Given the description of an element on the screen output the (x, y) to click on. 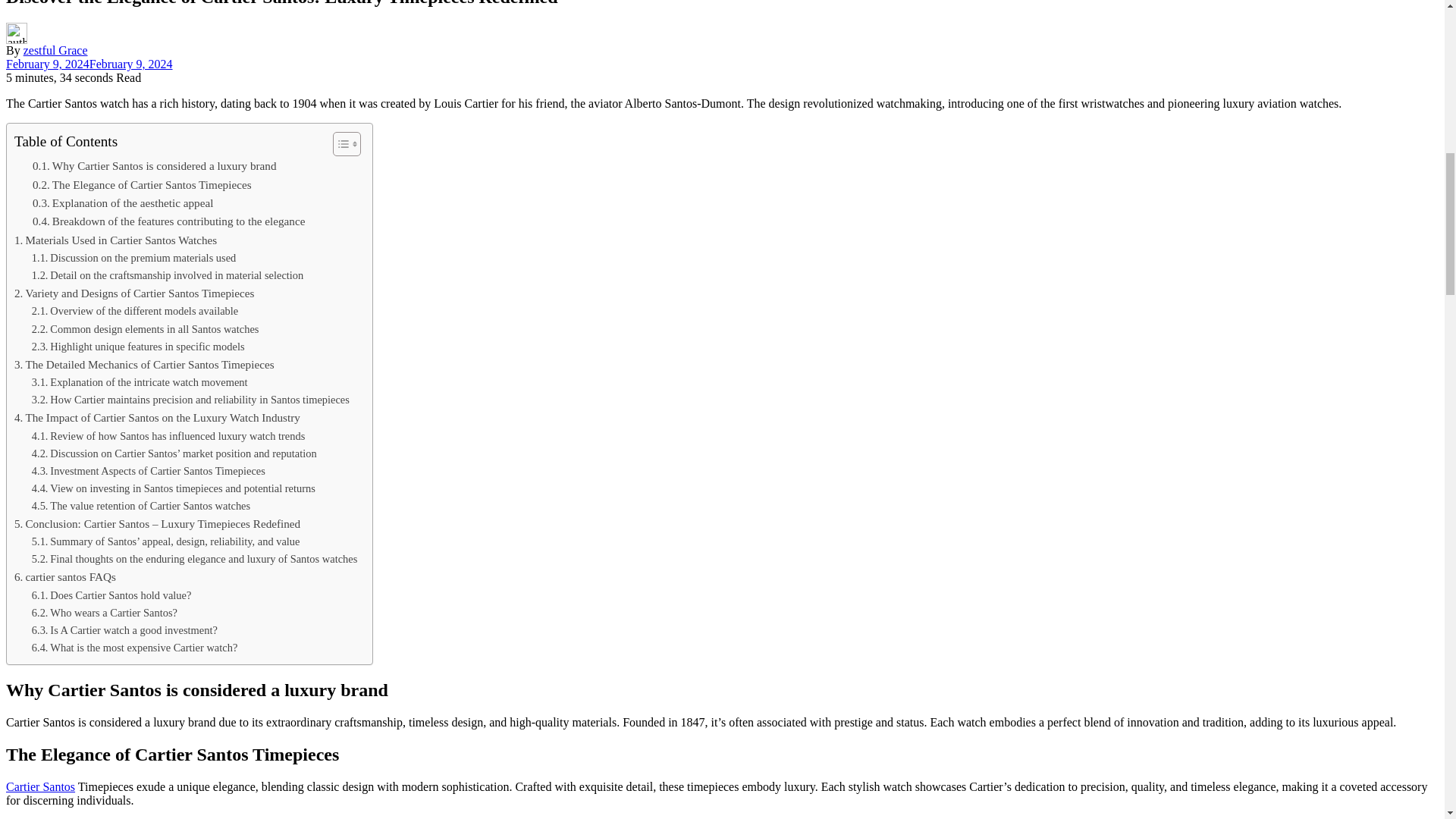
Why Cartier Santos is considered a luxury brand (154, 166)
Highlight unique features in specific models (138, 346)
Breakdown of the features contributing to the elegance (168, 221)
Materials Used in Cartier Santos Watches (115, 239)
Common design elements in all Santos watches (145, 328)
Variety and Designs of Cartier Santos Timepieces (133, 293)
Overview of the different models available (135, 311)
Why Cartier Santos is considered a luxury brand (154, 166)
The Elegance of Cartier Santos Timepieces (141, 185)
Explanation of the aesthetic appeal (122, 203)
